Given the description of an element on the screen output the (x, y) to click on. 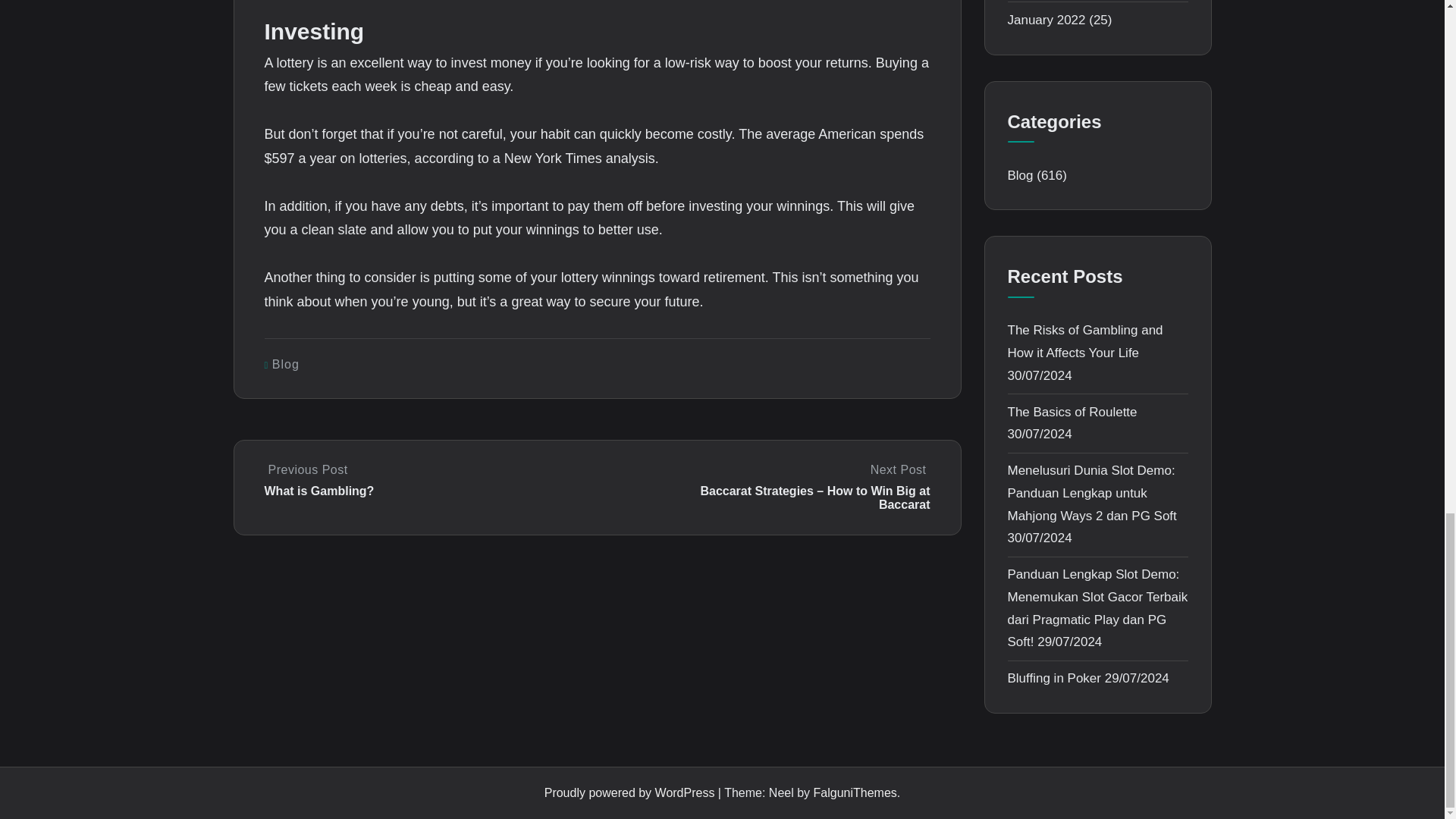
Blog (285, 364)
